Given the description of an element on the screen output the (x, y) to click on. 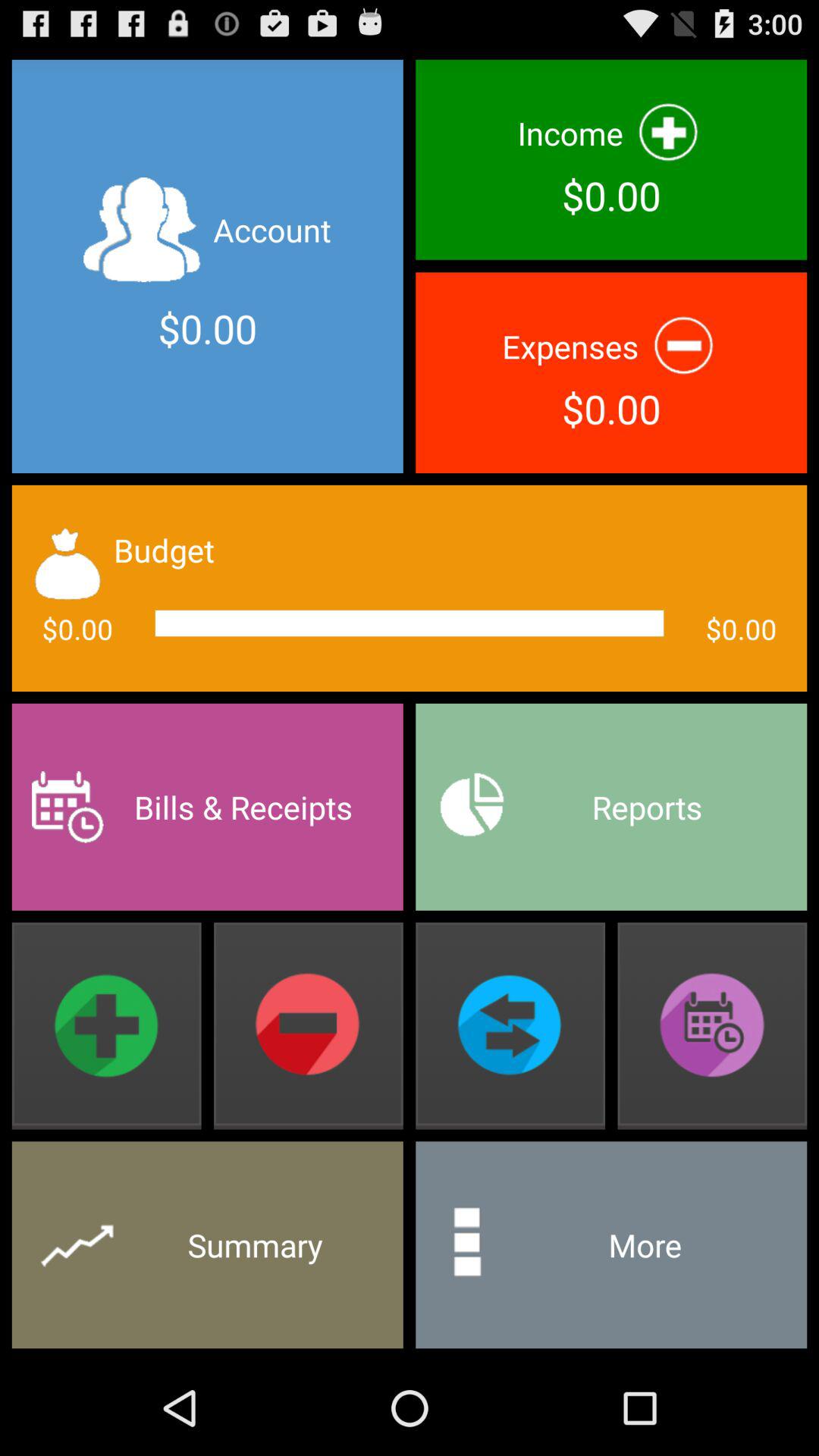
choose the icon above the summary (106, 1025)
